Given the description of an element on the screen output the (x, y) to click on. 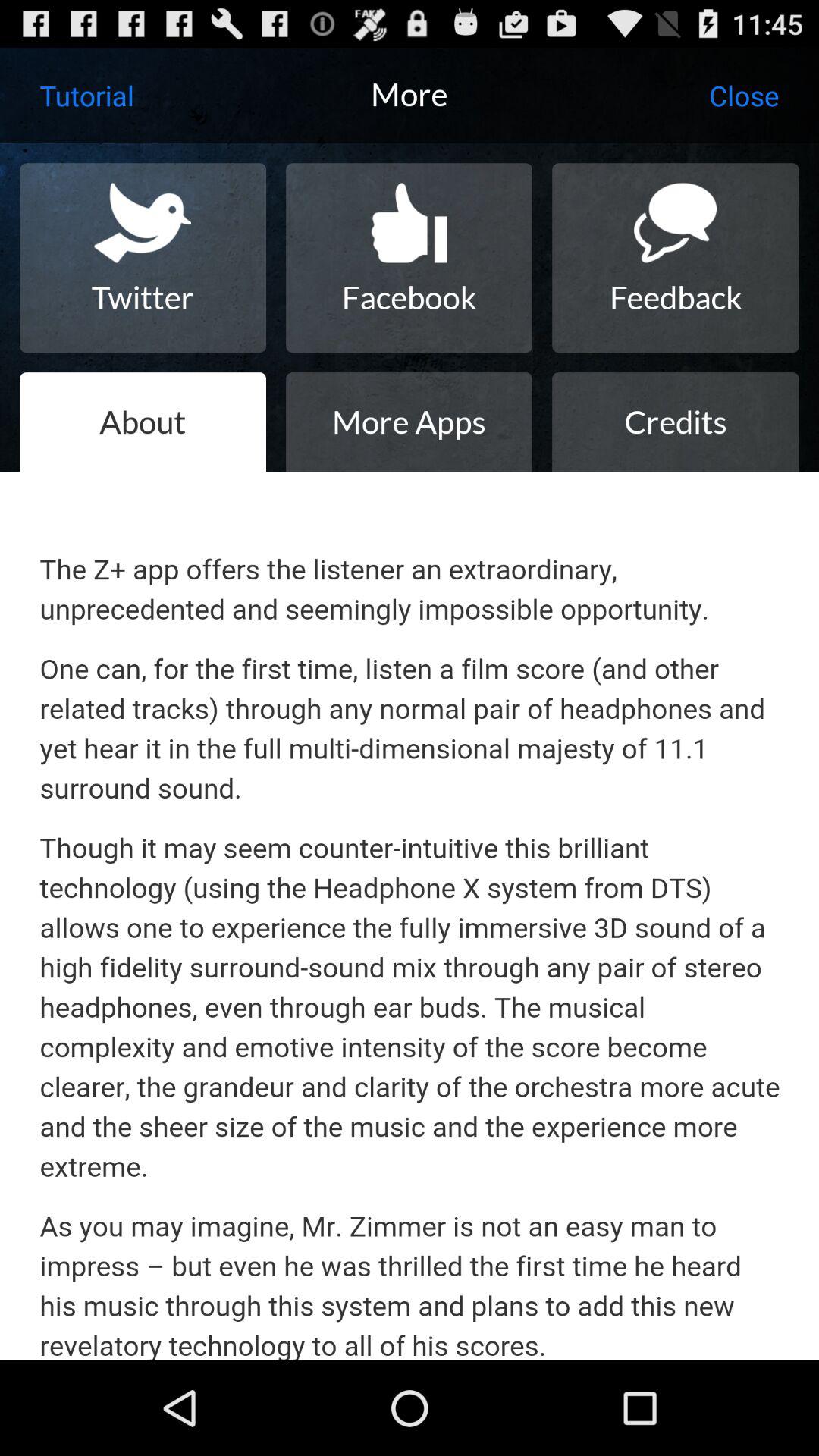
flip to twitter icon (142, 257)
